Given the description of an element on the screen output the (x, y) to click on. 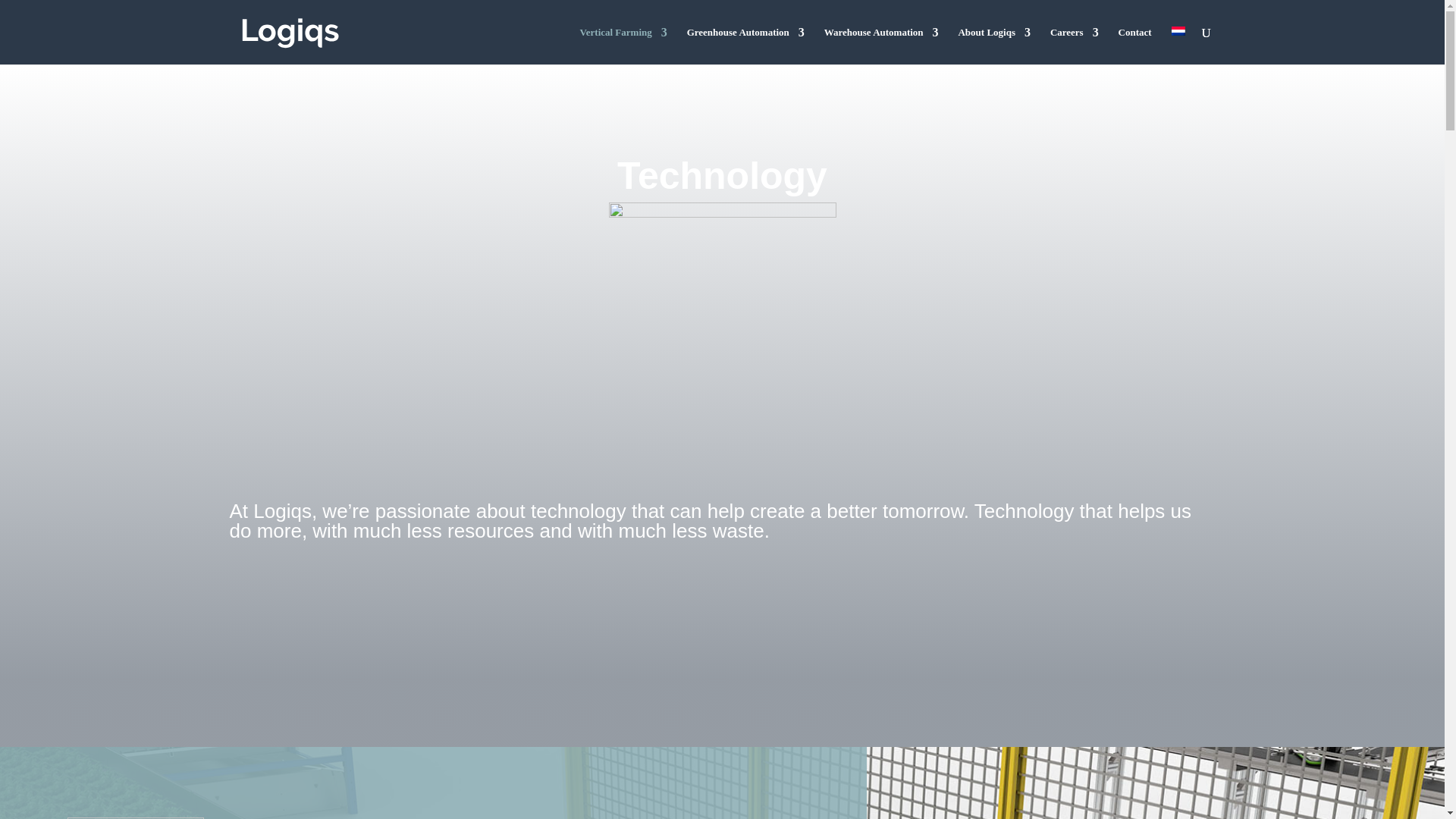
About Logiqs (994, 45)
Careers (1074, 45)
Greenhouse Automation (746, 45)
Contact (1134, 45)
Warehouse Automation (881, 45)
Vertical Farming (622, 45)
